Given the description of an element on the screen output the (x, y) to click on. 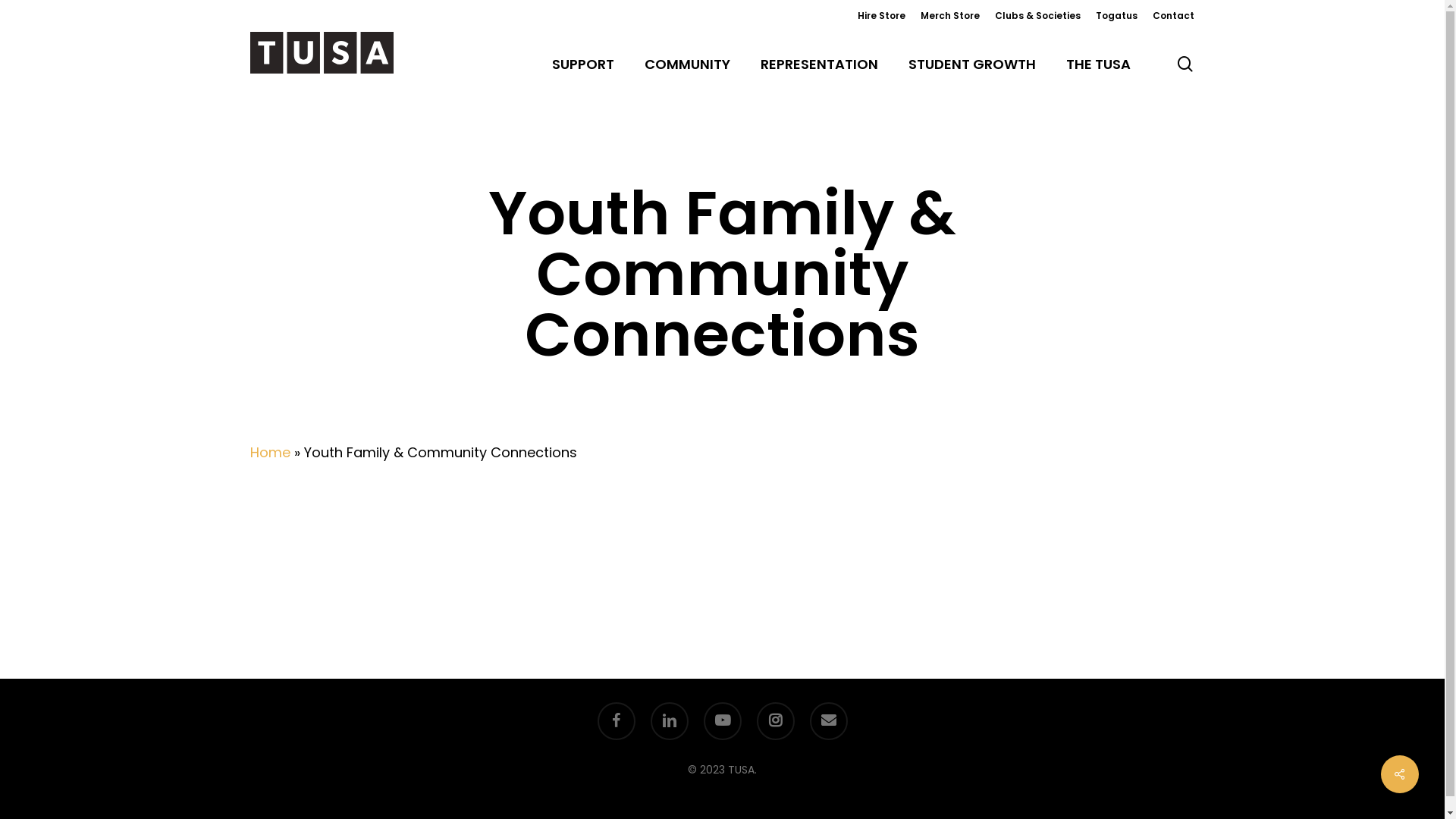
THE TUSA Element type: text (1098, 64)
facebook Element type: text (616, 721)
youtube Element type: text (722, 721)
Togatus Element type: text (1116, 15)
COMMUNITY Element type: text (687, 64)
STUDENT GROWTH Element type: text (971, 64)
SUPPORT Element type: text (583, 64)
Merch Store Element type: text (949, 15)
REPRESENTATION Element type: text (819, 64)
Hire Store Element type: text (881, 15)
email Element type: text (828, 721)
search Element type: text (1185, 64)
instagram Element type: text (775, 721)
linkedin Element type: text (669, 721)
Contact Element type: text (1173, 15)
Clubs & Societies Element type: text (1037, 15)
Home Element type: text (270, 451)
